Given the description of an element on the screen output the (x, y) to click on. 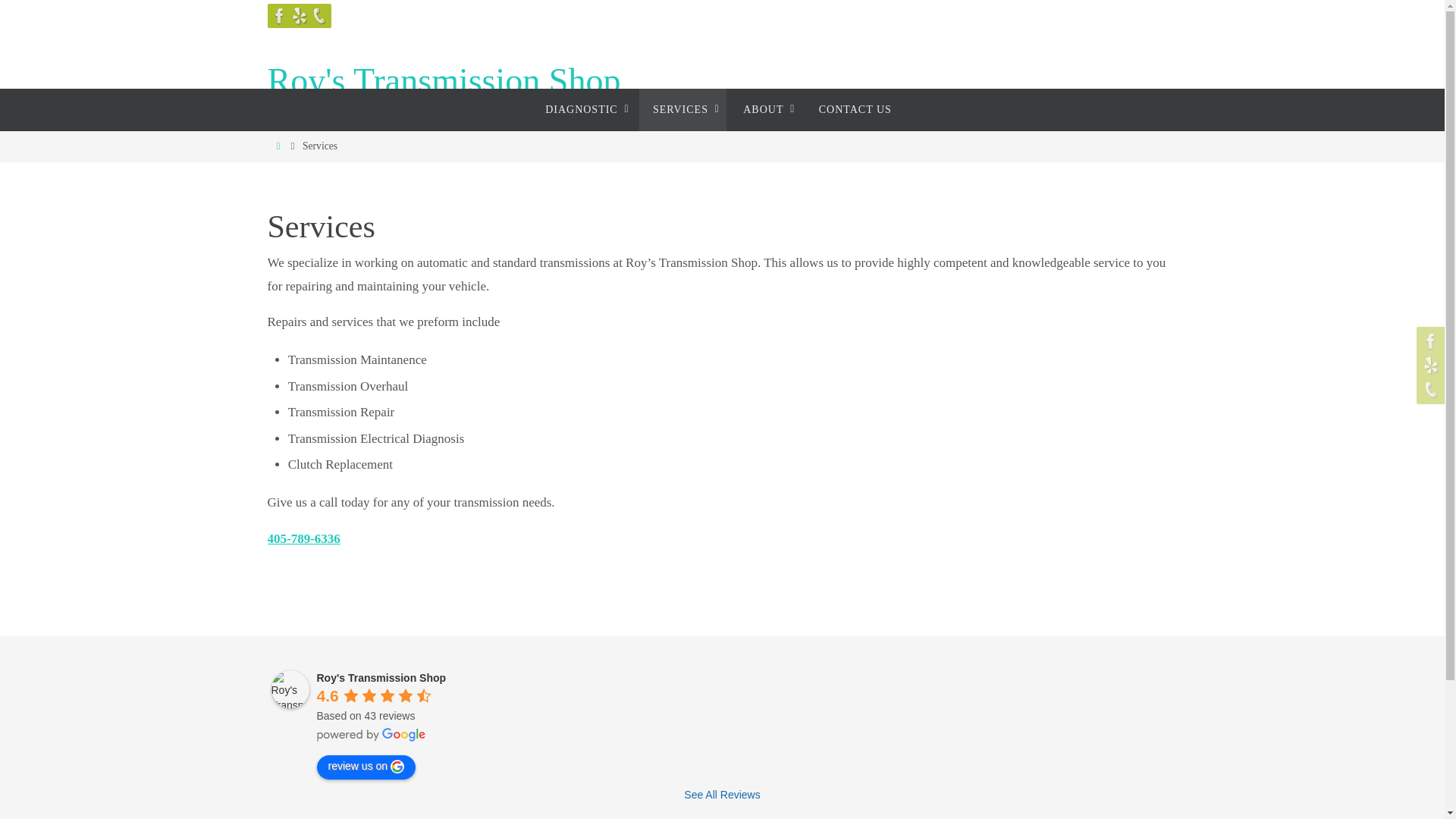
Roy's Transmission Shop (381, 677)
Roy's Transmission Shop (443, 81)
Home (277, 145)
ABOUT (765, 109)
See All Reviews (721, 794)
powered by Google (371, 735)
review us on (366, 767)
CONTACT US (855, 109)
Yelp (298, 15)
SERVICES (682, 109)
Facebook (278, 15)
DIAGNOSTIC (583, 109)
Roy's Transmission Shop (443, 81)
405-789-6336 (302, 538)
Phone (317, 15)
